Given the description of an element on the screen output the (x, y) to click on. 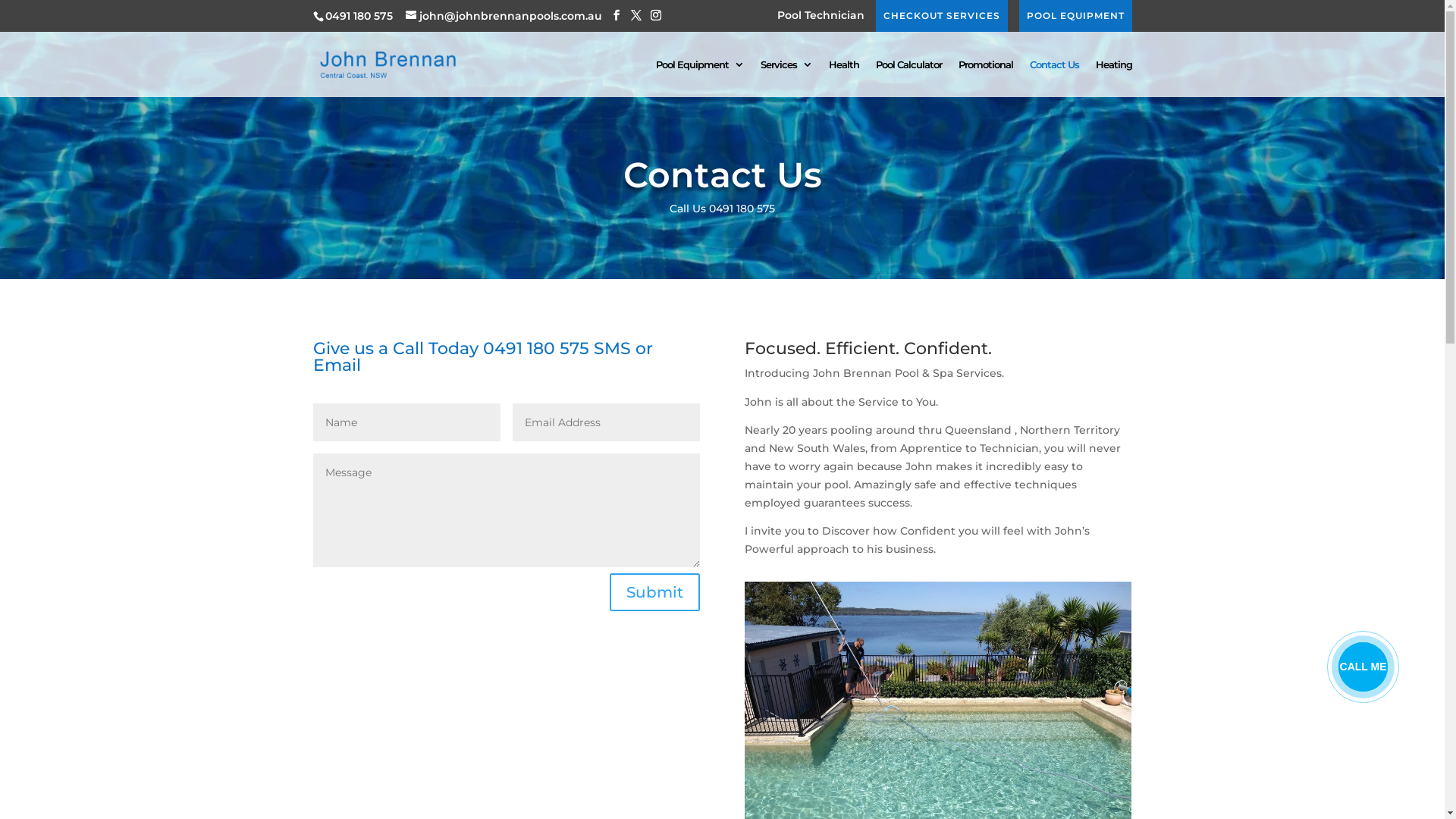
john@johnbrennanpools.com.au Element type: text (502, 15)
0491 180 575 Element type: text (358, 15)
Pool Calculator Element type: text (908, 78)
POOL EQUIPMENT Element type: text (1075, 15)
Heating Element type: text (1113, 78)
Contact Us Element type: text (1054, 78)
Pool Equipment Element type: text (699, 78)
Submit Element type: text (654, 592)
Health Element type: text (843, 78)
Services Element type: text (785, 78)
Pool Technician Element type: text (819, 18)
CHECKOUT SERVICES Element type: text (941, 15)
Promotional Element type: text (985, 78)
